Given the description of an element on the screen output the (x, y) to click on. 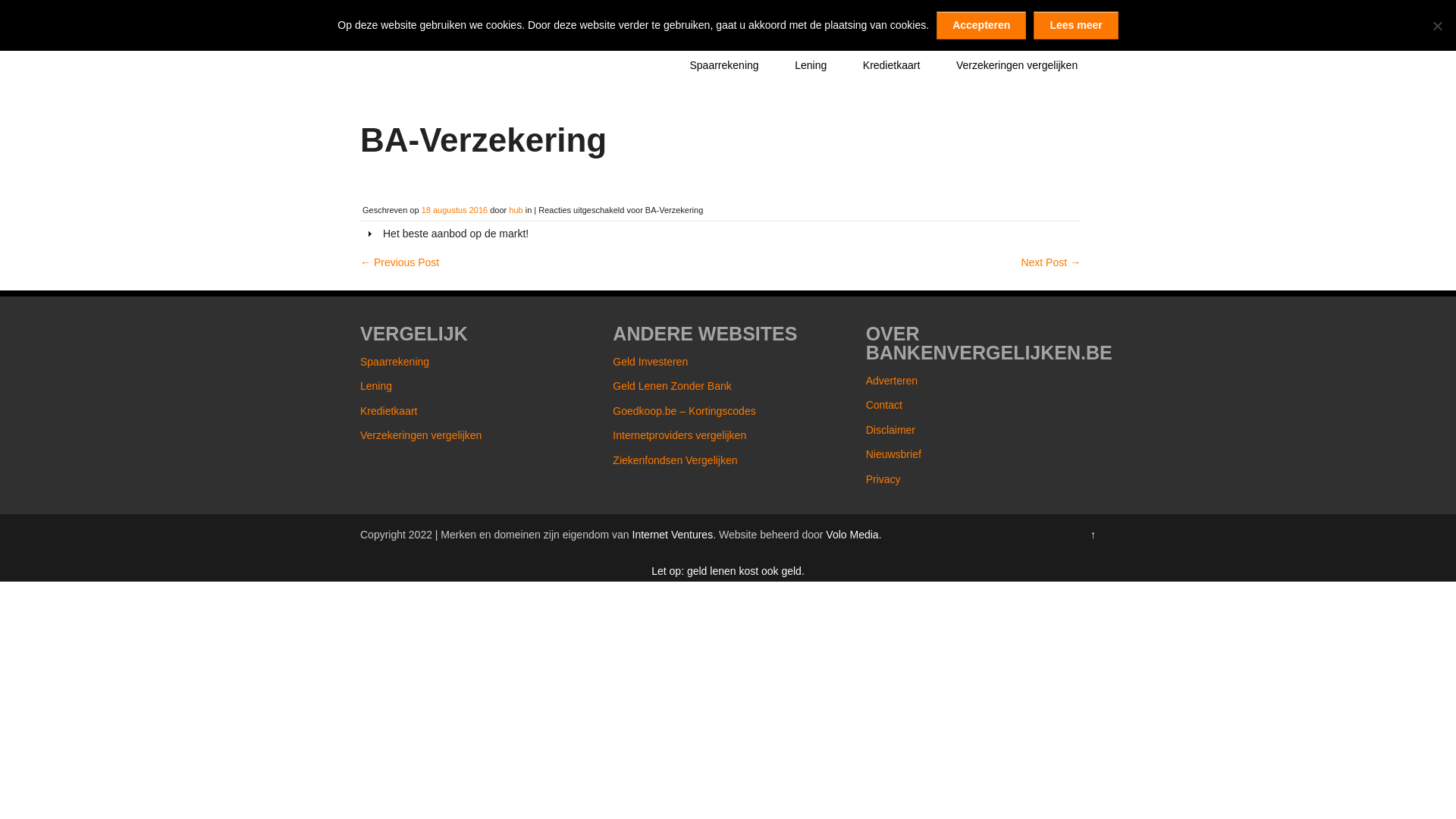
Internet Ventures Element type: text (672, 534)
Privacy Element type: text (883, 479)
Internetproviders vergelijken Element type: text (679, 435)
No Element type: hover (1436, 25)
Accepteren Element type: text (981, 25)
Nieuwsbrief Element type: text (893, 454)
Spaarrekening Element type: text (394, 361)
Disclaimer Element type: text (890, 429)
18 augustus 2016 Element type: text (454, 209)
Geld Investeren Element type: text (649, 361)
Kredietkaart Element type: text (891, 64)
Lening Element type: text (810, 64)
Spaarrekening Element type: text (724, 64)
Volo Media Element type: text (851, 534)
hub Element type: text (515, 209)
Bankenvergelijken.be Element type: hover (443, 14)
Kredietkaart Element type: text (388, 410)
Lees meer Element type: text (1075, 25)
Verzekeringen vergelijken Element type: text (1016, 64)
Contact Element type: text (884, 404)
Verzekeringen vergelijken Element type: text (420, 435)
Lening Element type: text (376, 385)
Ziekenfondsen Vergelijken Element type: text (674, 460)
Geld Lenen Zonder Bank Element type: text (671, 385)
Adverteren Element type: text (891, 380)
